Given the description of an element on the screen output the (x, y) to click on. 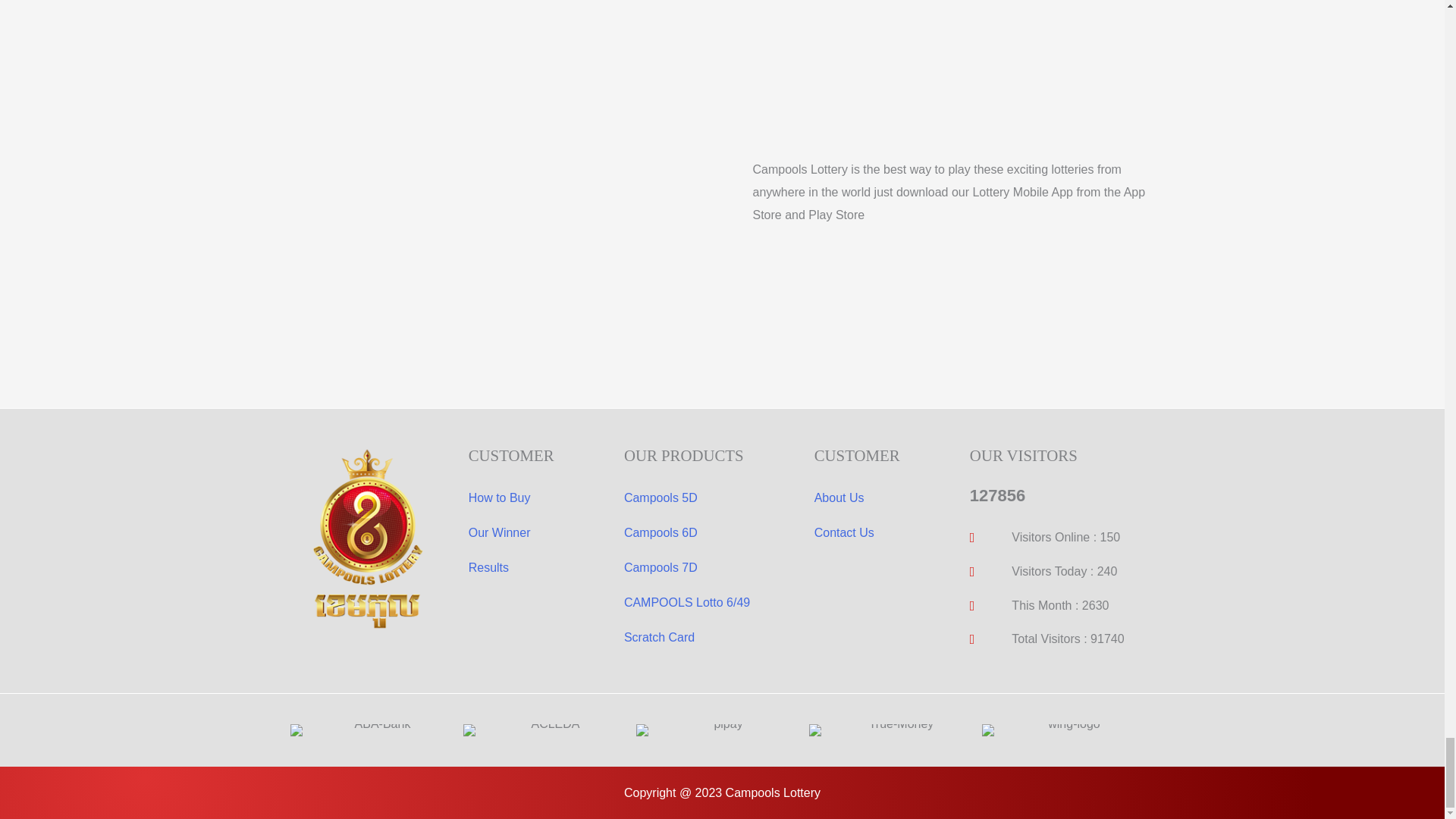
How to Buy (523, 497)
Our Winner (523, 532)
Results (523, 567)
